Given the description of an element on the screen output the (x, y) to click on. 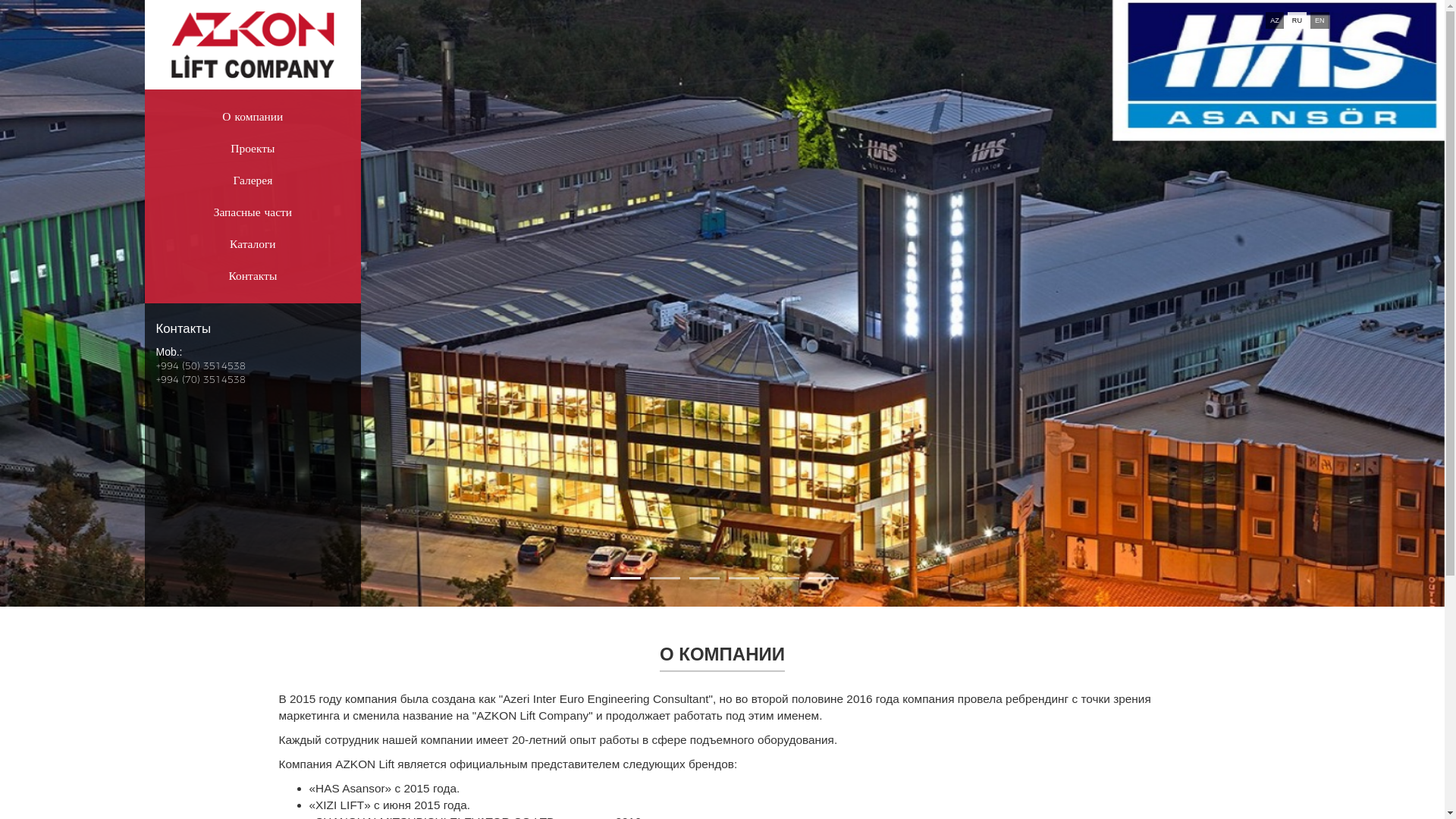
RU Element type: text (1296, 20)
EN Element type: text (1319, 20)
AZ Element type: text (1274, 20)
